Given the description of an element on the screen output the (x, y) to click on. 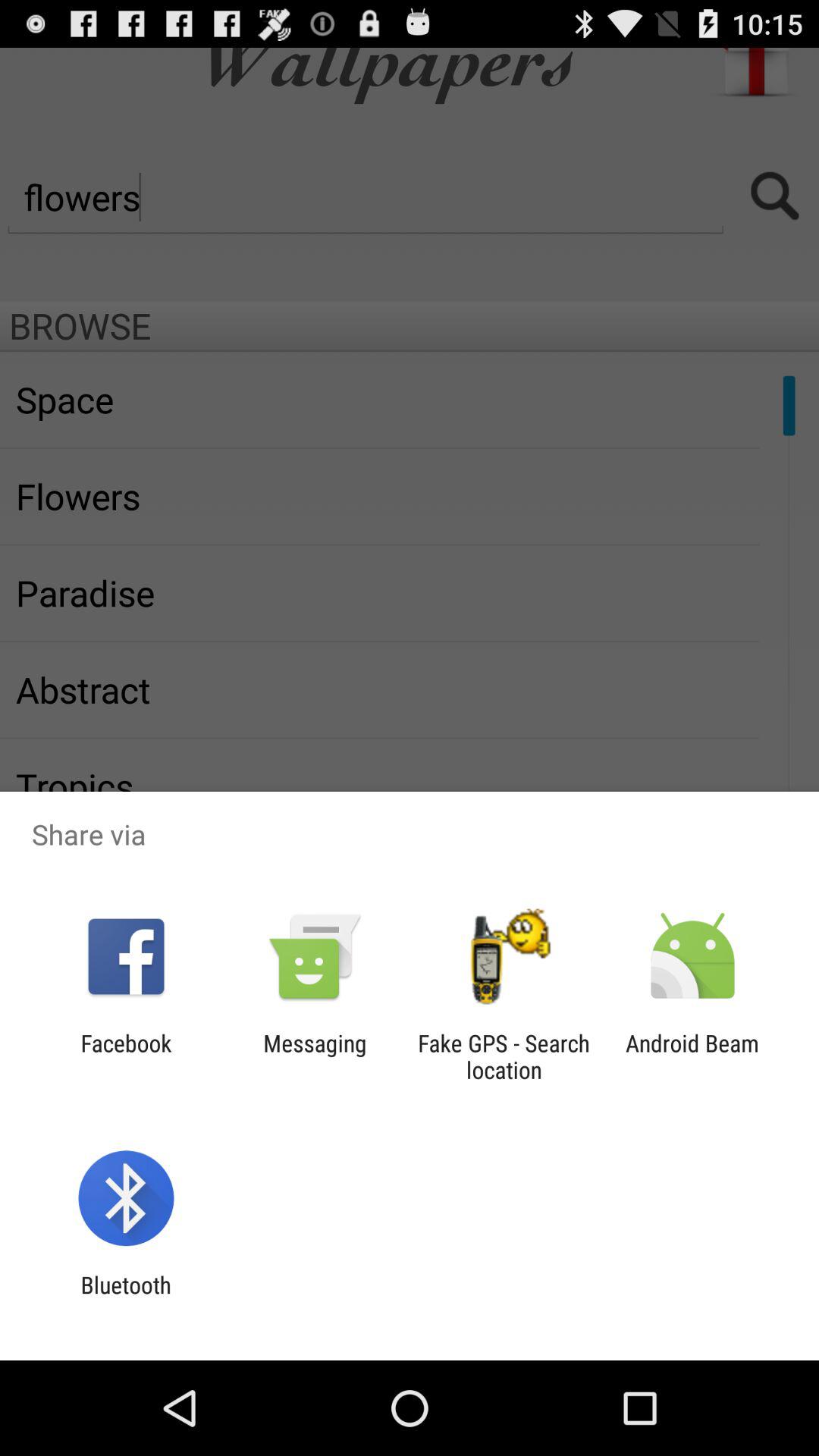
press the icon next to facebook (314, 1056)
